Given the description of an element on the screen output the (x, y) to click on. 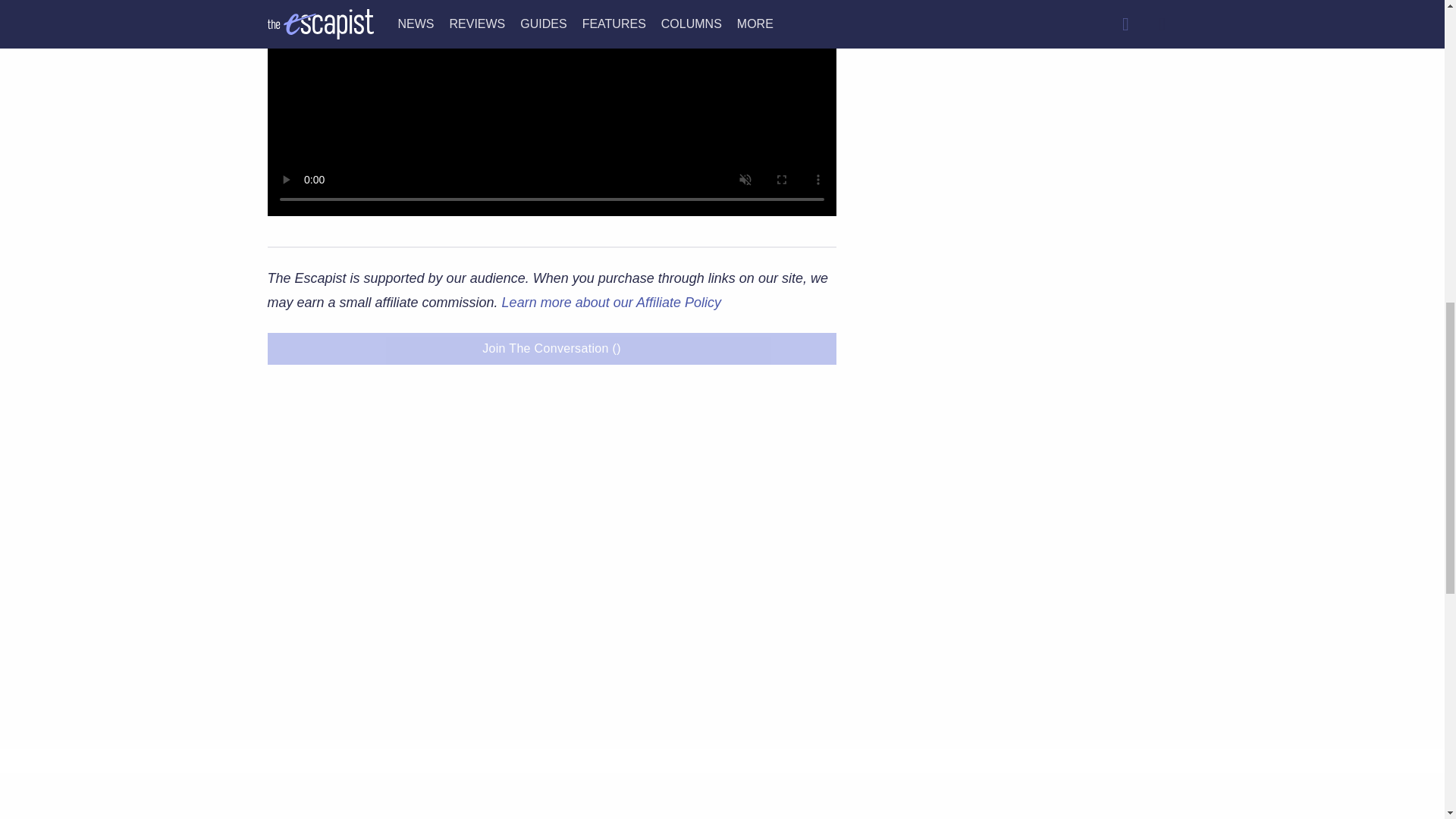
3rd party ad content (1024, 167)
